Given the description of an element on the screen output the (x, y) to click on. 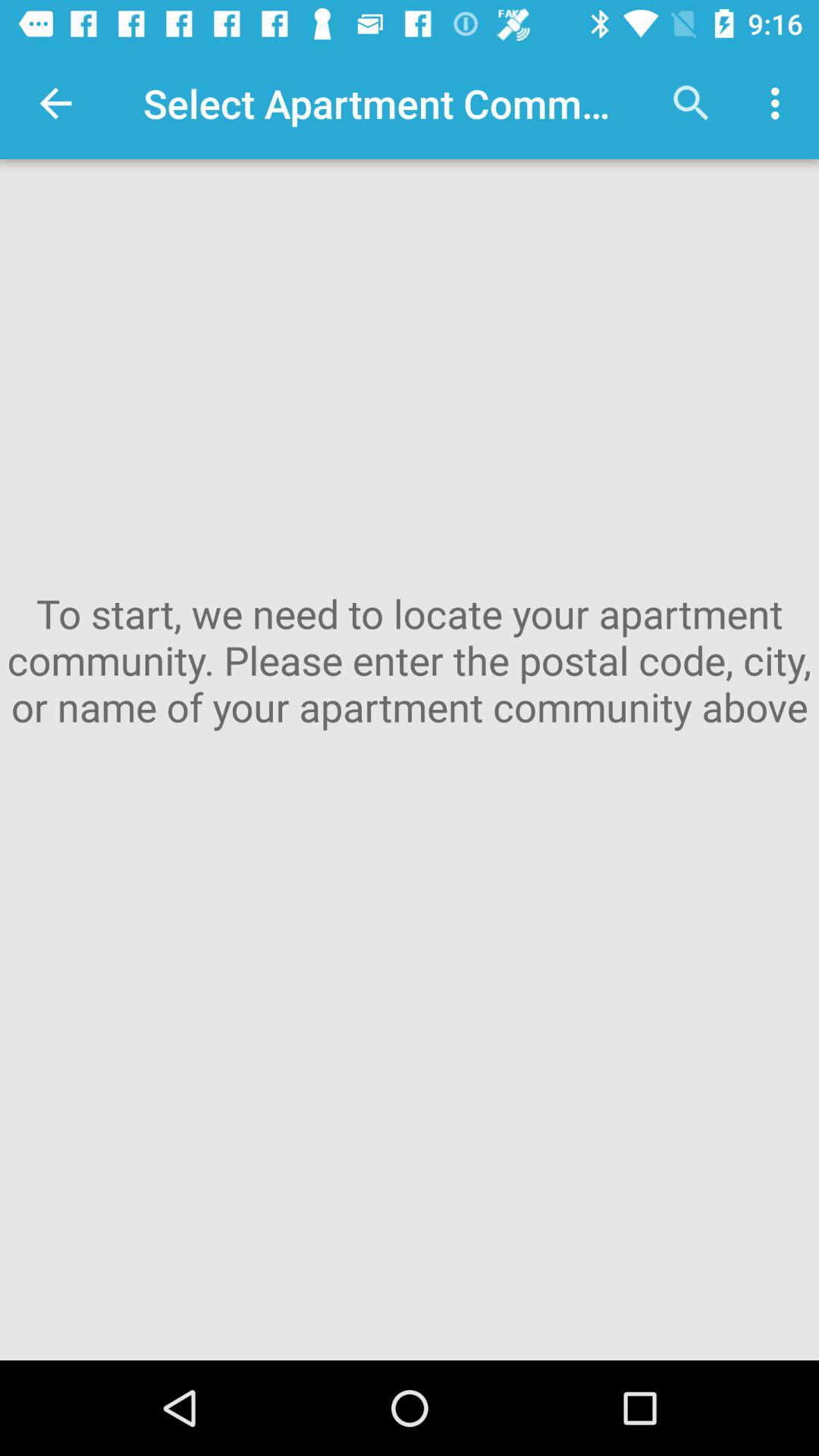
click the item above to start we icon (691, 103)
